Given the description of an element on the screen output the (x, y) to click on. 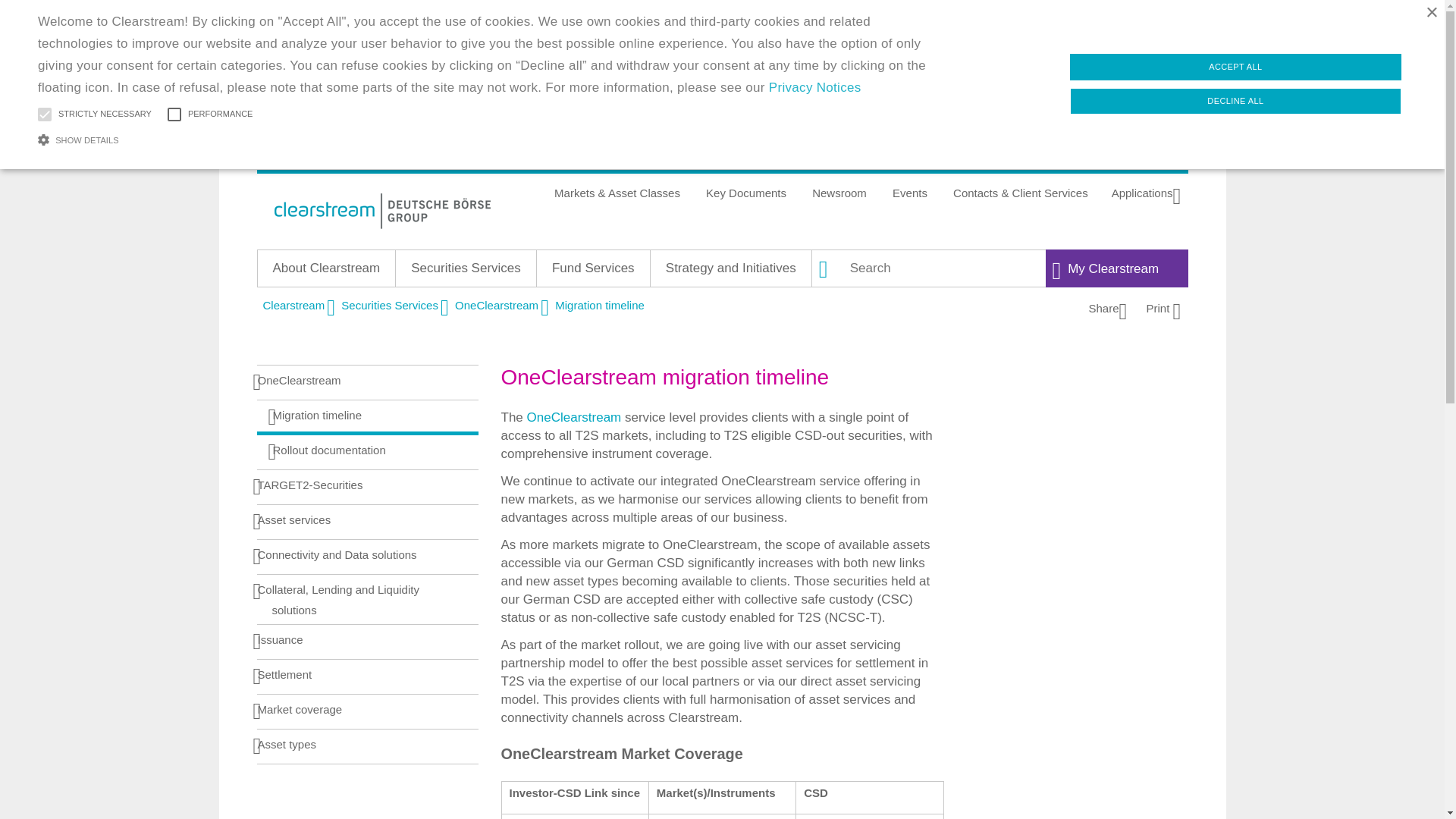
Search (830, 268)
Key Documents (745, 193)
Newsroom (838, 193)
About Clearstream (326, 268)
Events (909, 193)
